Given the description of an element on the screen output the (x, y) to click on. 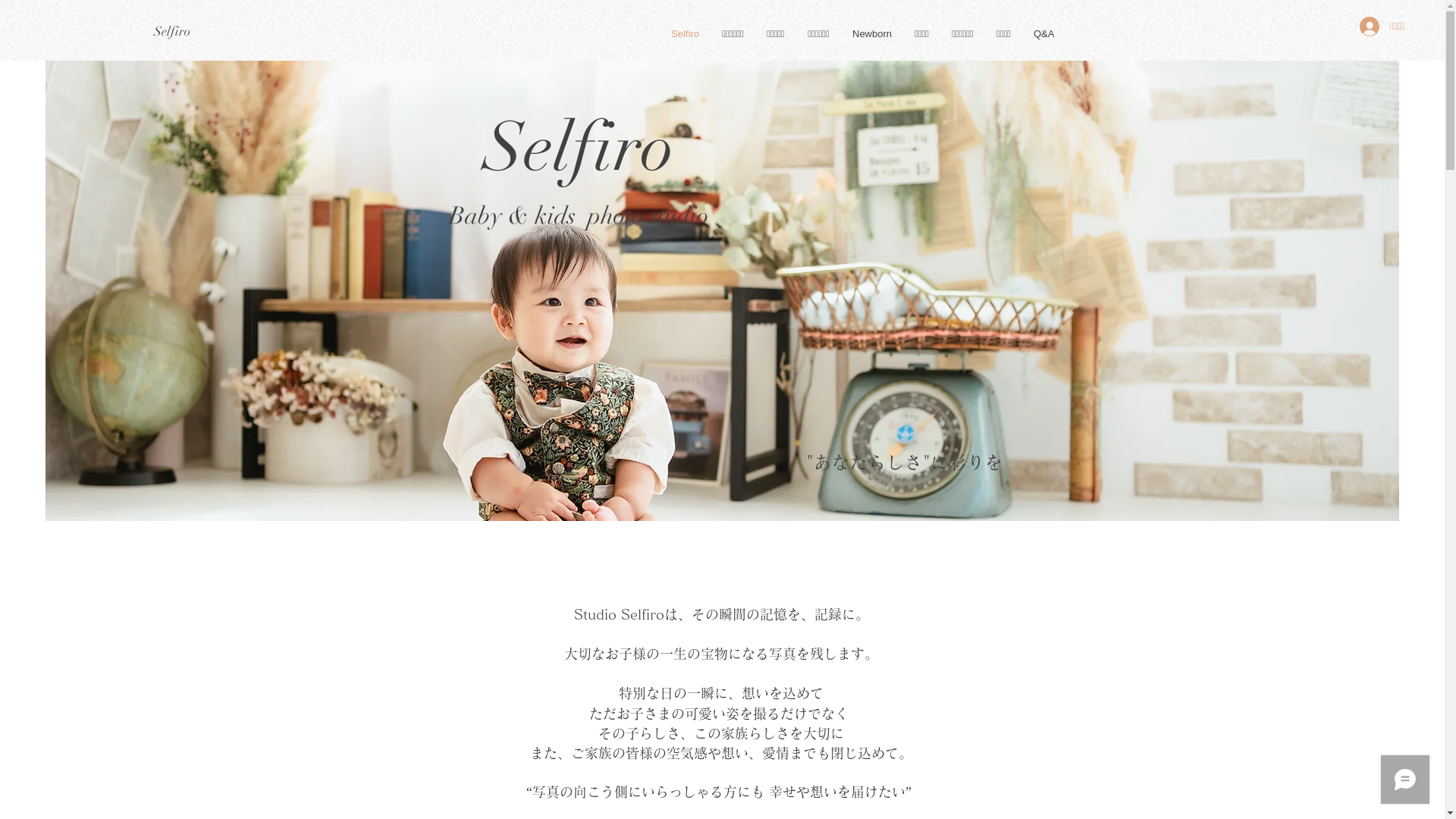
Newborn Element type: text (871, 34)
Q&A Element type: text (1043, 34)
Selfiro Element type: text (171, 31)
Selfiro Element type: text (684, 34)
